Given the description of an element on the screen output the (x, y) to click on. 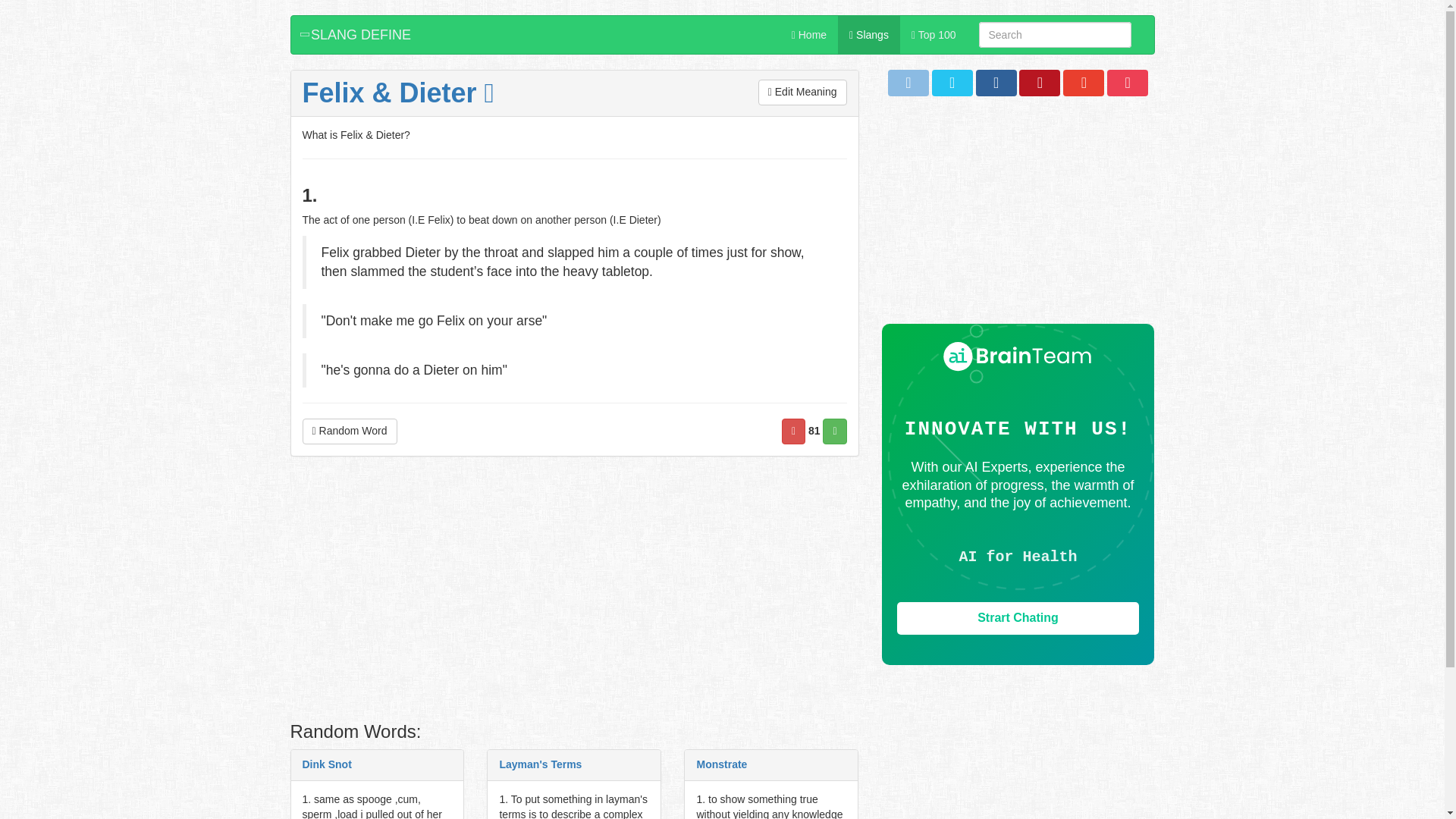
Layman's Terms (539, 764)
Home (809, 34)
Random Word (348, 431)
Top 100 (933, 34)
Dink Snot (325, 764)
Edit Meaning (802, 92)
Advertisement (1017, 217)
Advertisement (574, 592)
Monstrate (720, 764)
SLANG DEFINE (357, 34)
Slangs (868, 34)
Strart Chating (1017, 617)
